Given the description of an element on the screen output the (x, y) to click on. 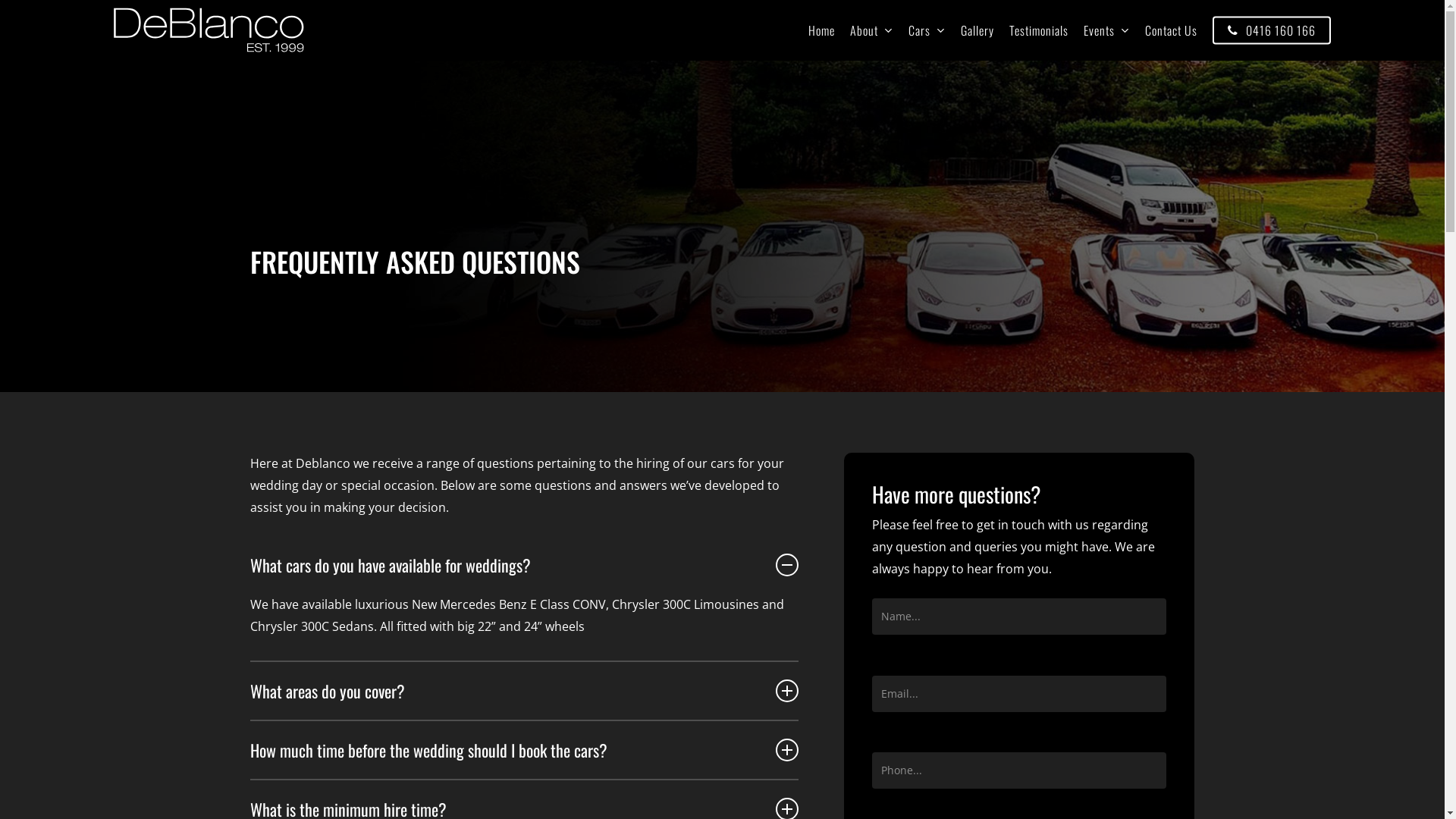
Testimonials Element type: text (1038, 29)
What areas do you cover? Element type: text (524, 690)
Gallery Element type: text (977, 29)
How much time before the wedding should I book the cars? Element type: text (524, 749)
  0416 160 166 Element type: text (1271, 29)
What cars do you have available for weddings? Element type: text (524, 564)
Contact Us Element type: text (1170, 29)
Cars Element type: text (926, 29)
Home Element type: text (821, 29)
About Element type: text (871, 29)
Events Element type: text (1106, 29)
